Given the description of an element on the screen output the (x, y) to click on. 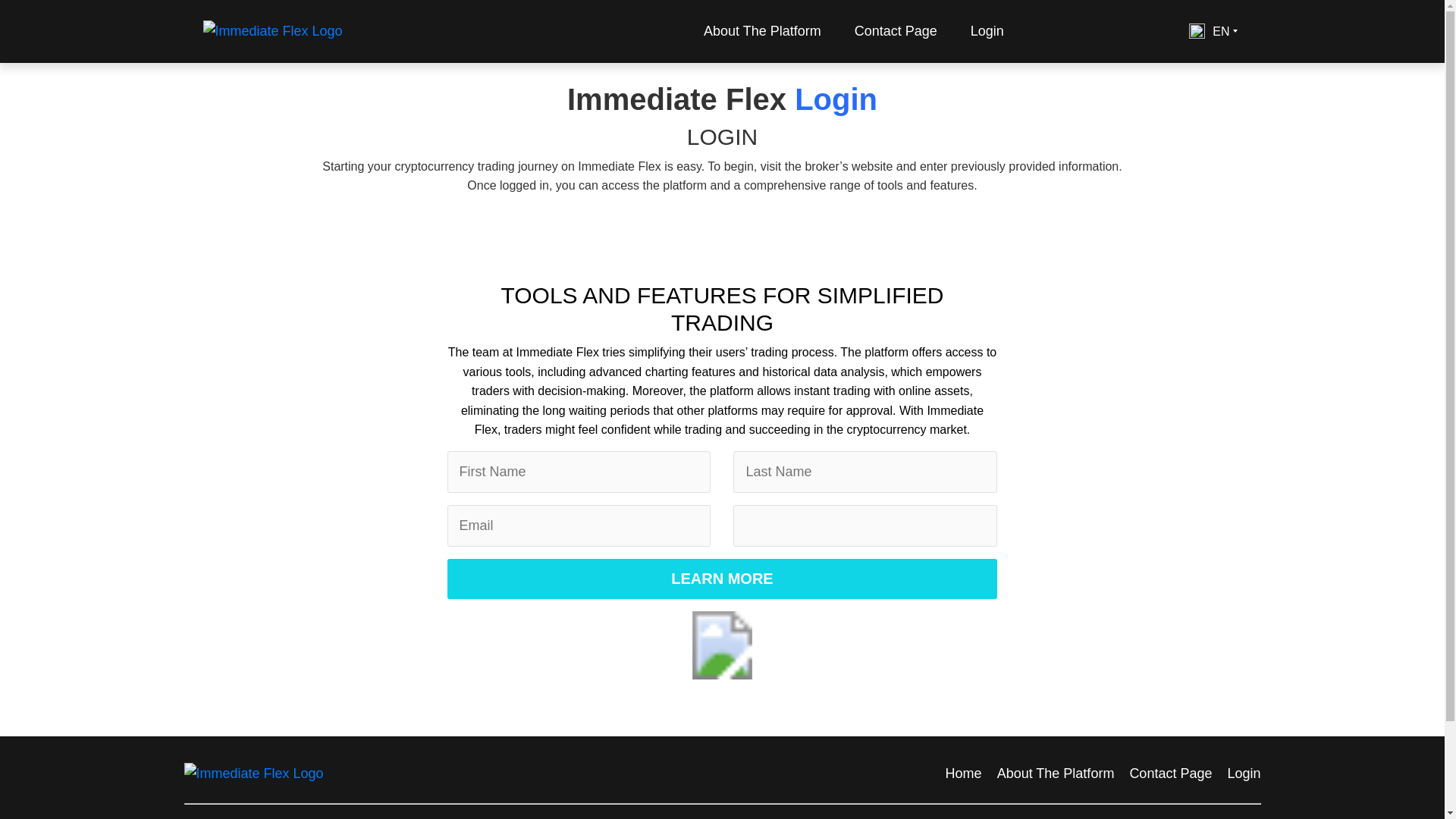
Contact Page (1170, 773)
Login (1243, 773)
About The Platform (762, 31)
Login (987, 31)
About The Platform (1056, 773)
Contact Page (895, 31)
LEARN MORE (721, 578)
Home (962, 773)
